Given the description of an element on the screen output the (x, y) to click on. 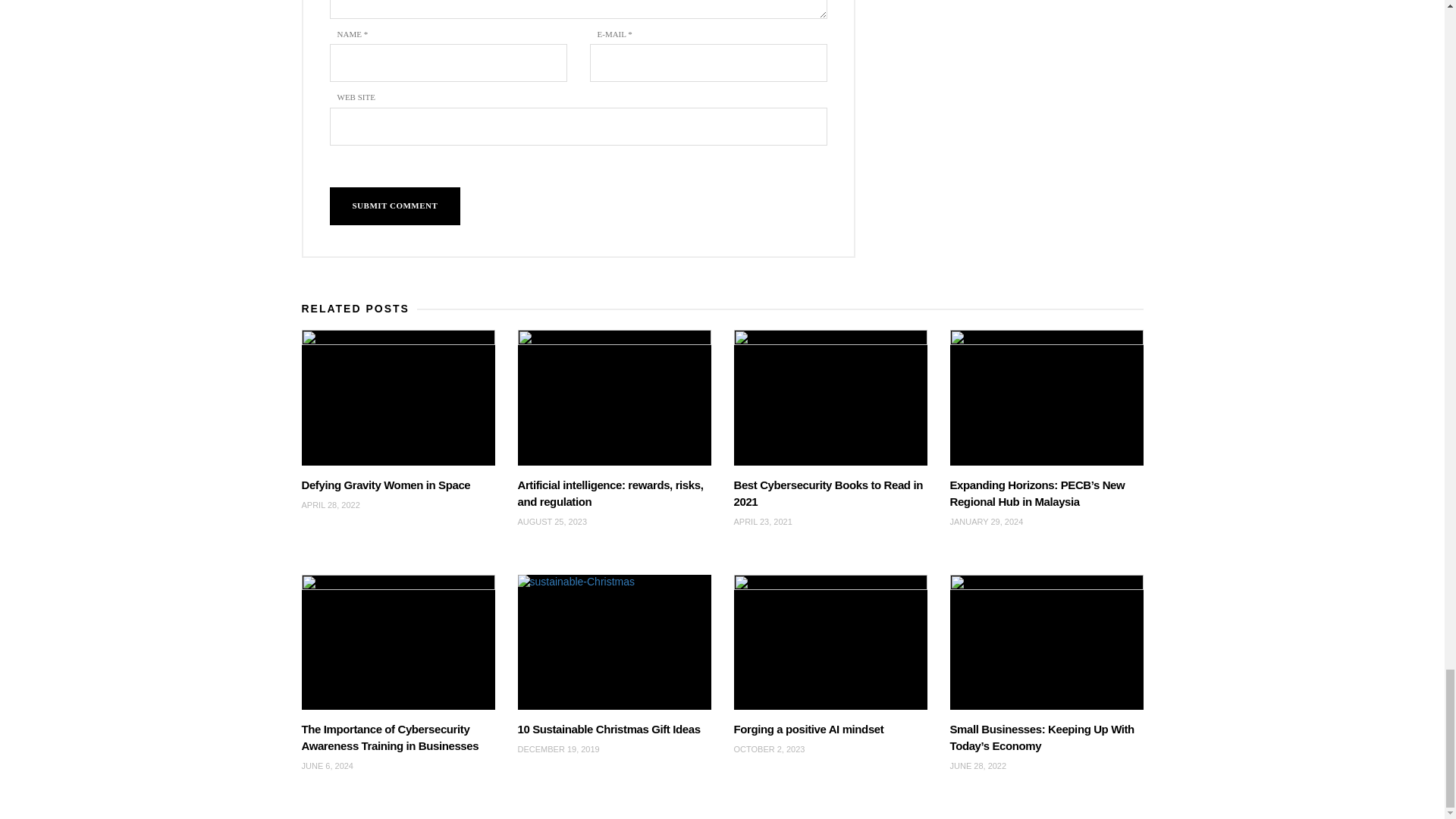
Submit Comment (394, 206)
